Given the description of an element on the screen output the (x, y) to click on. 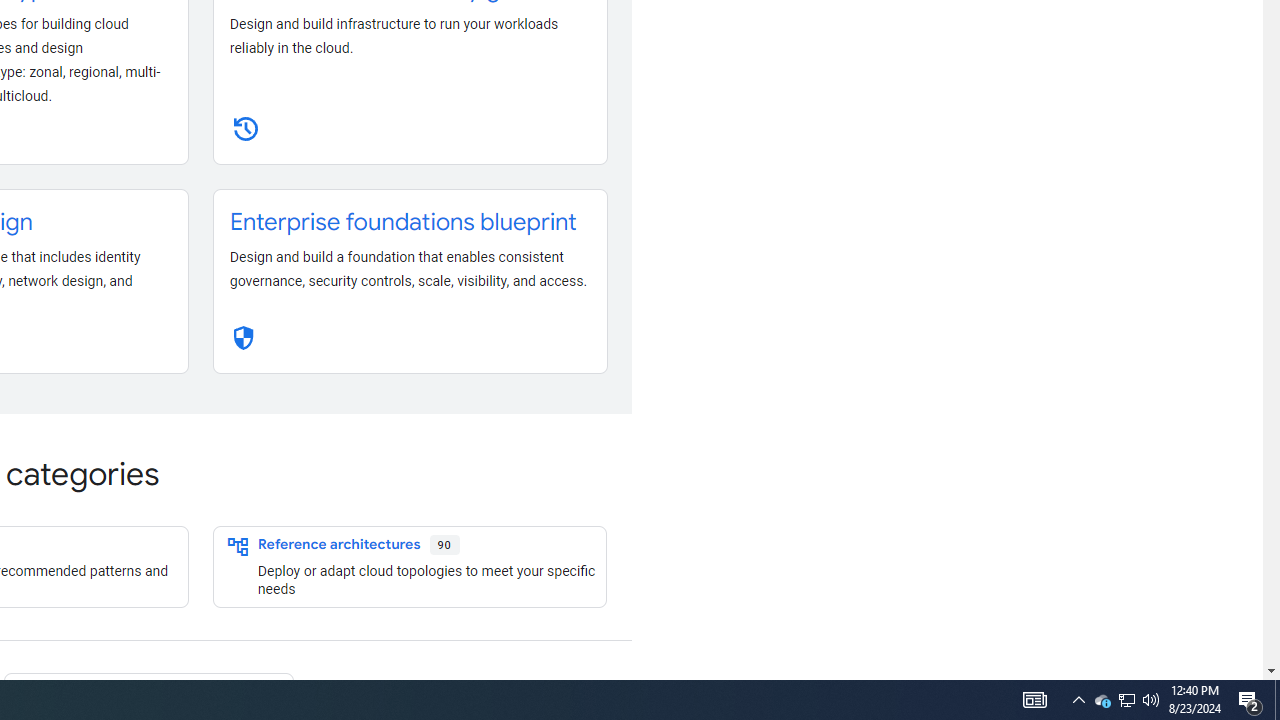
Enterprise foundations blueprint (403, 221)
